Given the description of an element on the screen output the (x, y) to click on. 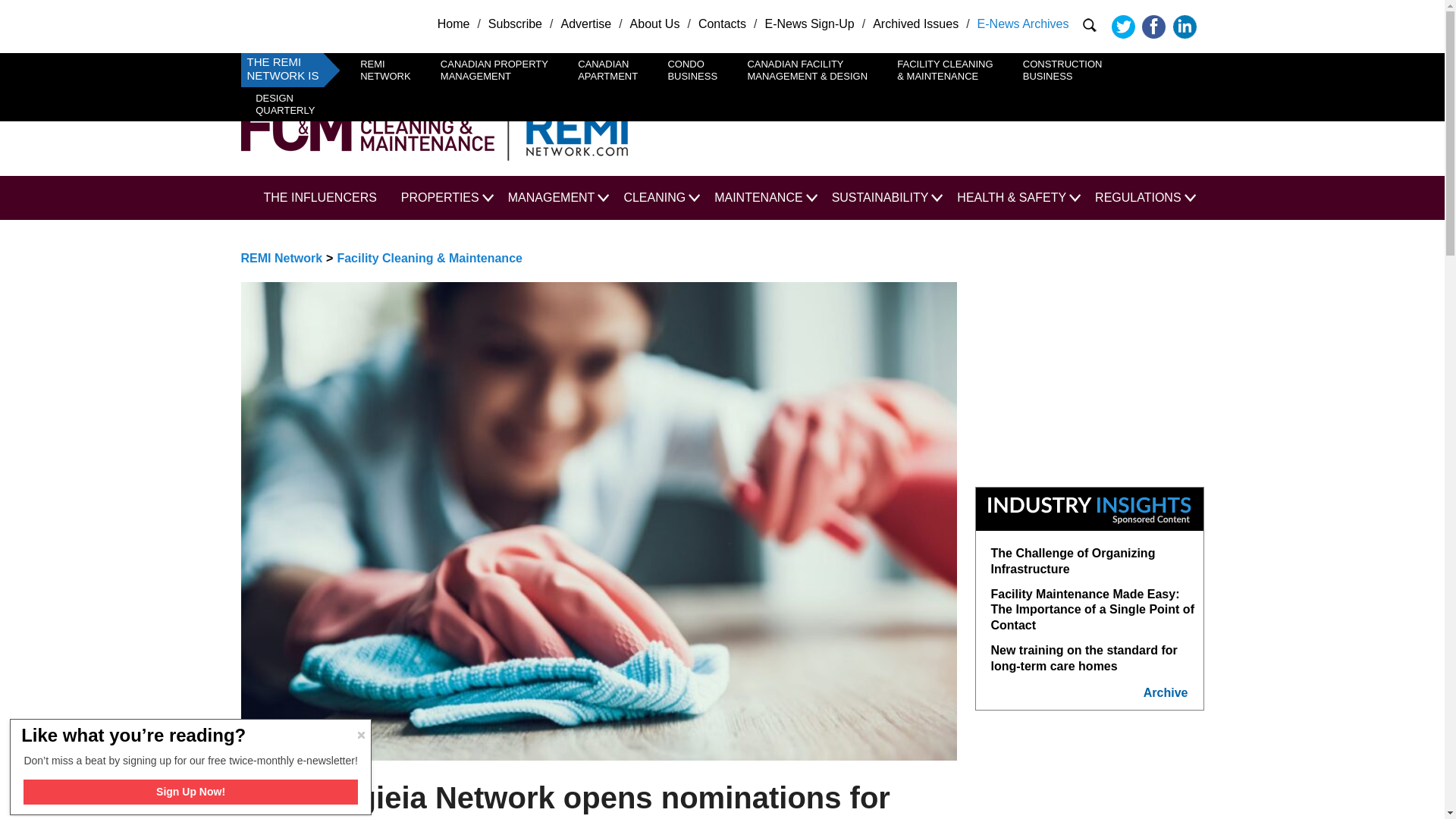
Part of the Real Estate Marketing Industry Network (568, 126)
3rd party ad content (925, 126)
Follow Us on LinkedIn (692, 69)
Follow Us on Twitter (1062, 69)
Subscribe (607, 69)
Contacts (1184, 27)
E-News Sign-Up (1122, 27)
Home (514, 23)
THE INFLUENCERS (721, 23)
